Given the description of an element on the screen output the (x, y) to click on. 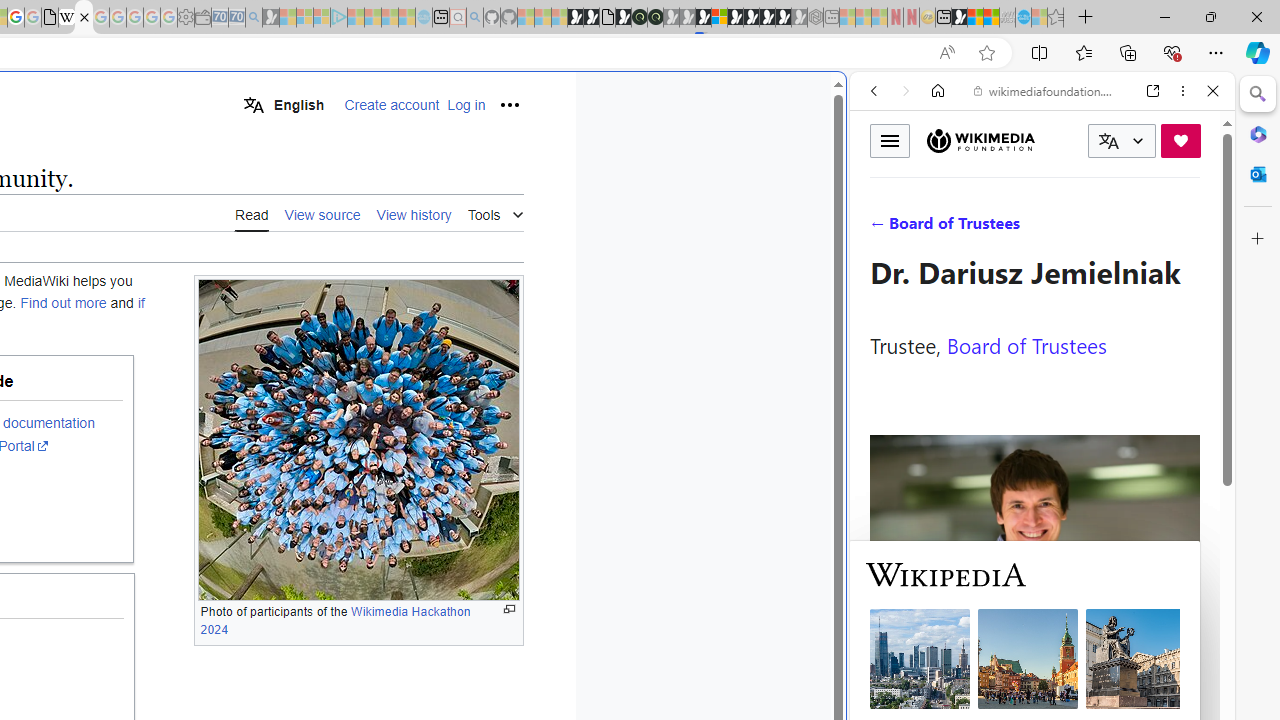
More options (1182, 91)
View history (413, 214)
Tools (495, 212)
Log in (466, 105)
wikimediafoundation.org (1045, 90)
MediaWiki (83, 17)
IMAGES (939, 228)
